Given the description of an element on the screen output the (x, y) to click on. 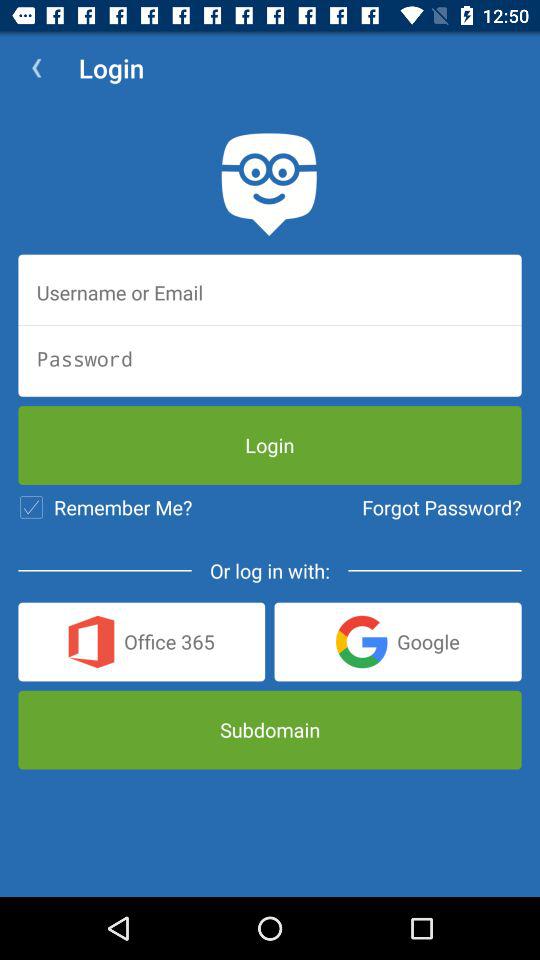
tap the item next to the login icon (36, 68)
